Given the description of an element on the screen output the (x, y) to click on. 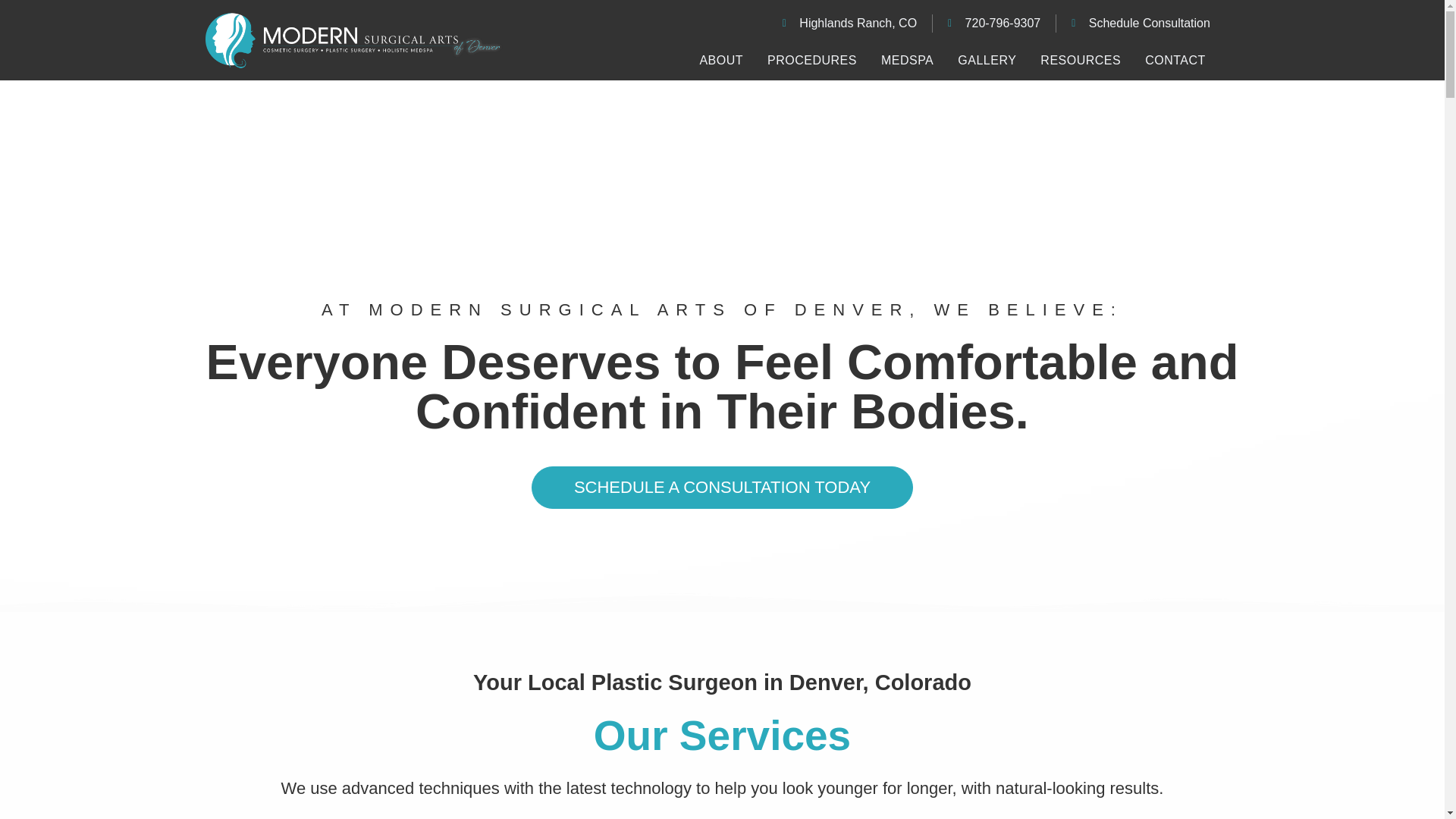
Schedule Consultation (1140, 23)
ABOUT (721, 60)
Highlands Ranch, CO (850, 23)
PROCEDURES (812, 60)
720-796-9307 (994, 23)
